Given the description of an element on the screen output the (x, y) to click on. 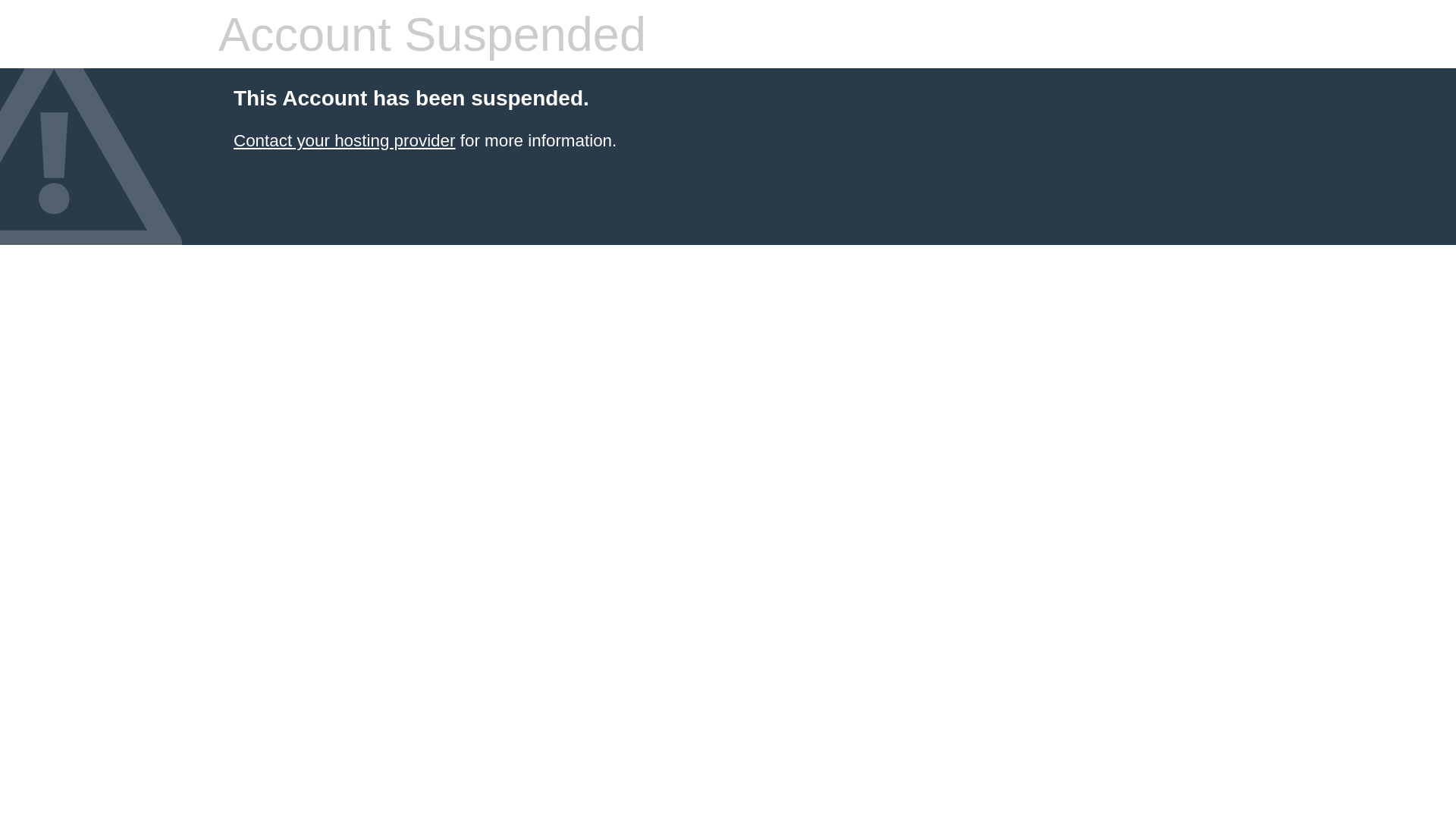
Contact your hosting provider Element type: text (344, 140)
